Given the description of an element on the screen output the (x, y) to click on. 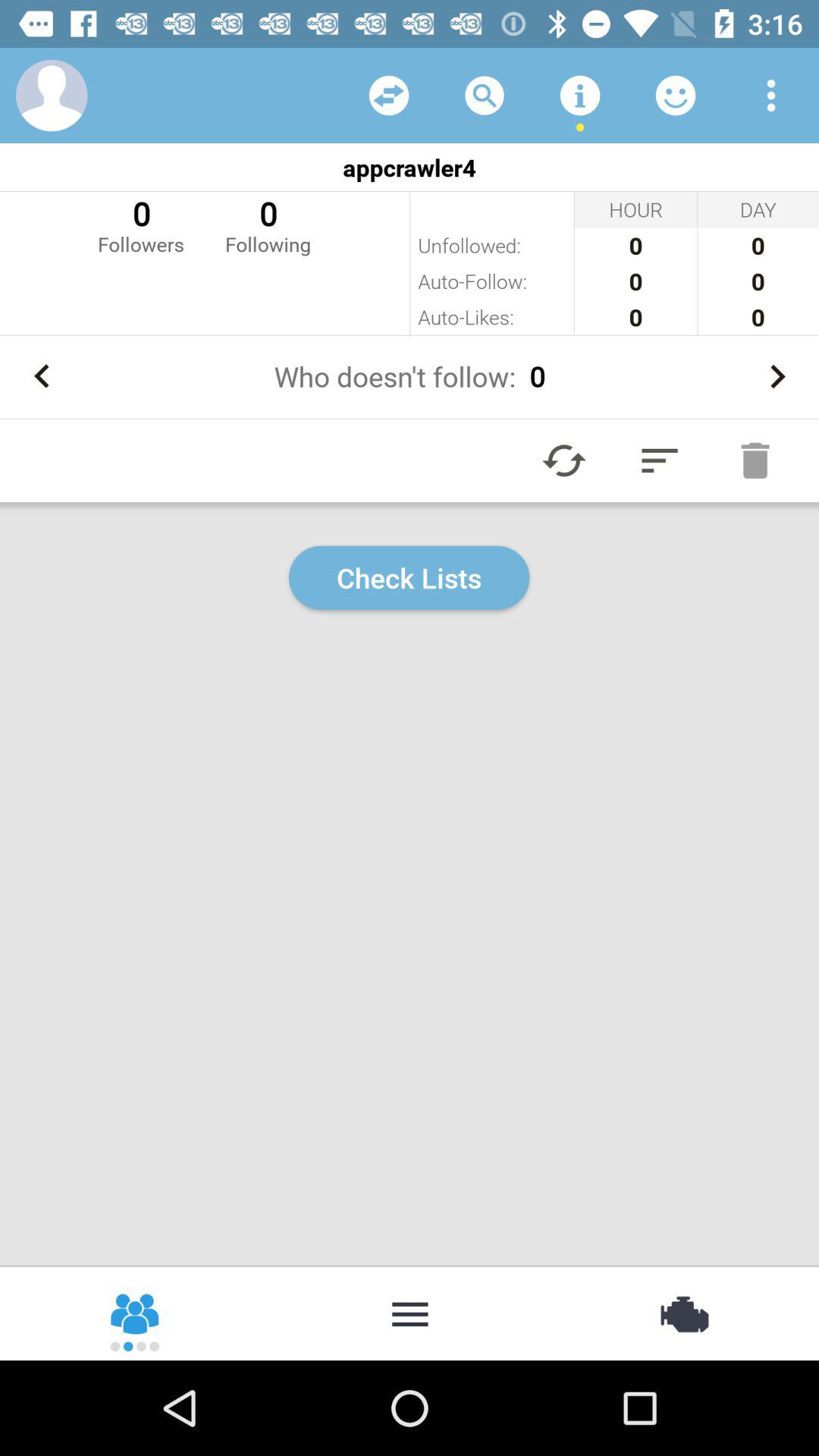
o following (268, 224)
click on delete button (755, 459)
select the right arrow icon (777, 375)
click on option right to search icon (580, 95)
